Given the description of an element on the screen output the (x, y) to click on. 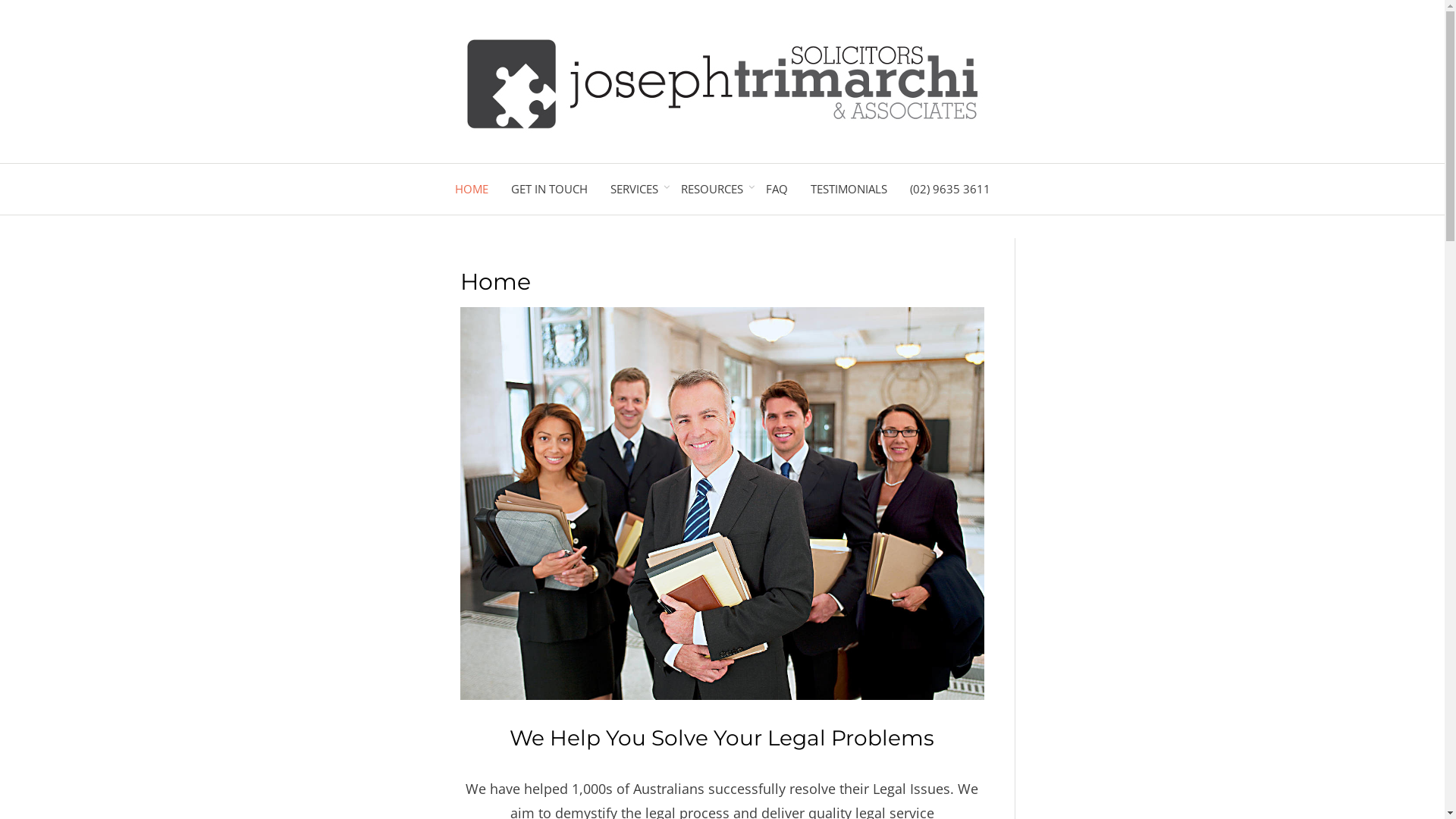
(02) 9635 3611 Element type: text (949, 188)
HOME Element type: text (470, 188)
GET IN TOUCH Element type: text (548, 188)
SERVICES Element type: text (634, 188)
RESOURCES Element type: text (710, 188)
FAQ Element type: text (775, 188)
JOSEPHTRIMARCHI Element type: text (1001, 167)
TESTIMONIALS Element type: text (848, 188)
